Given the description of an element on the screen output the (x, y) to click on. 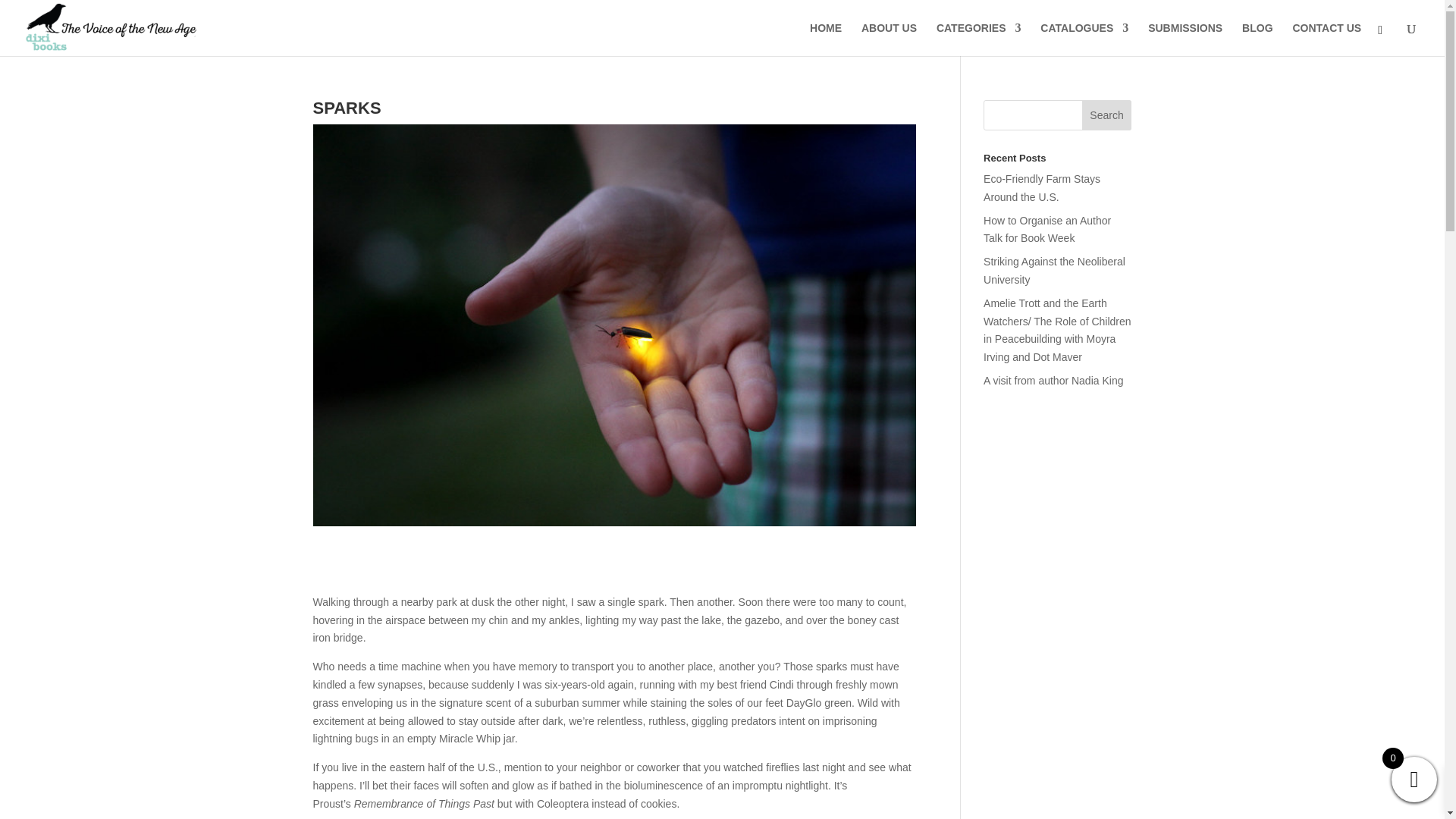
CATALOGUES (1084, 39)
ABOUT US (889, 39)
BLOG (1256, 39)
Search (1106, 114)
SUBMISSIONS (1185, 39)
CONTACT US (1326, 39)
CATEGORIES (979, 39)
Search (1106, 114)
HOME (825, 39)
Eco-Friendly Farm Stays Around the U.S. (1042, 187)
